Given the description of an element on the screen output the (x, y) to click on. 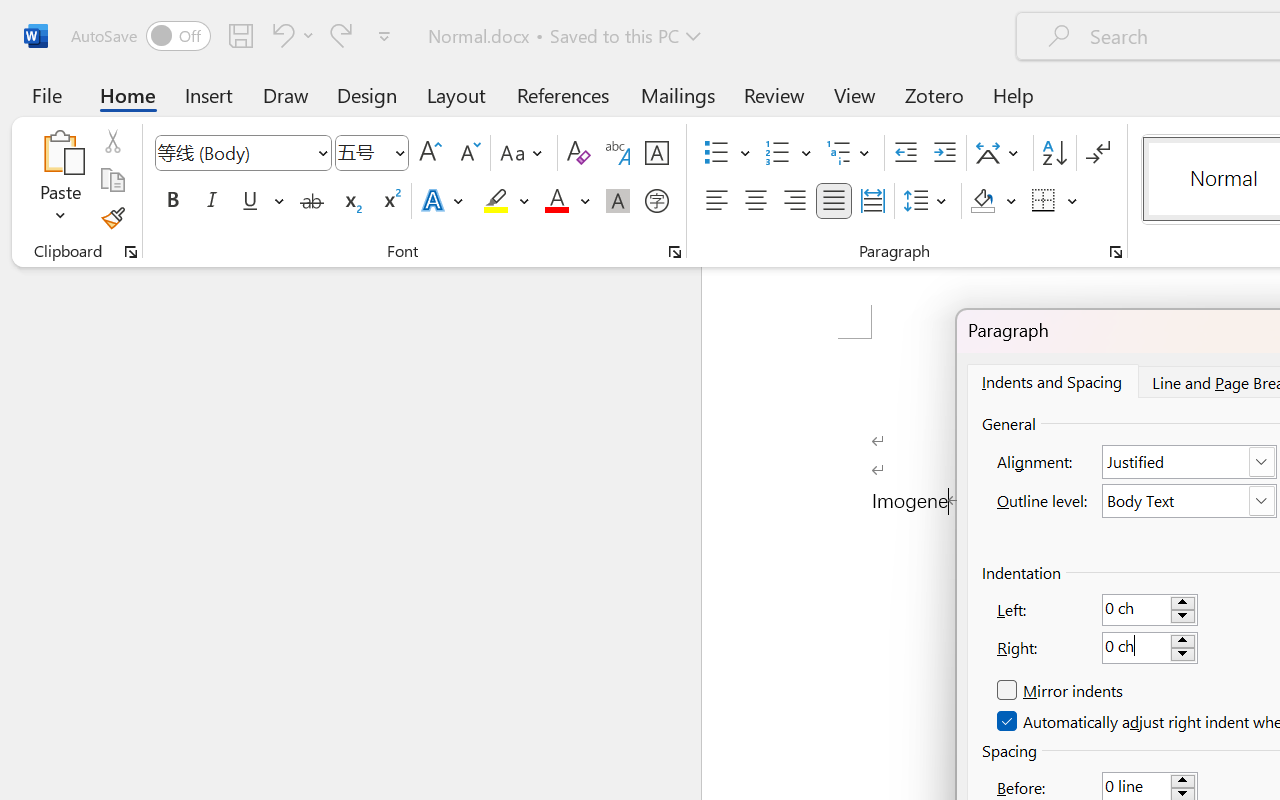
Multilevel List (850, 153)
Indents and Spacing (1051, 381)
Asian Layout (1000, 153)
Undo Typing (290, 35)
Font... (675, 252)
Cut (112, 141)
Italic (212, 201)
Text Highlight Color (506, 201)
Line and Paragraph Spacing (927, 201)
Character Border (656, 153)
Decrease Indent (906, 153)
Shading RGB(0, 0, 0) (982, 201)
